Given the description of an element on the screen output the (x, y) to click on. 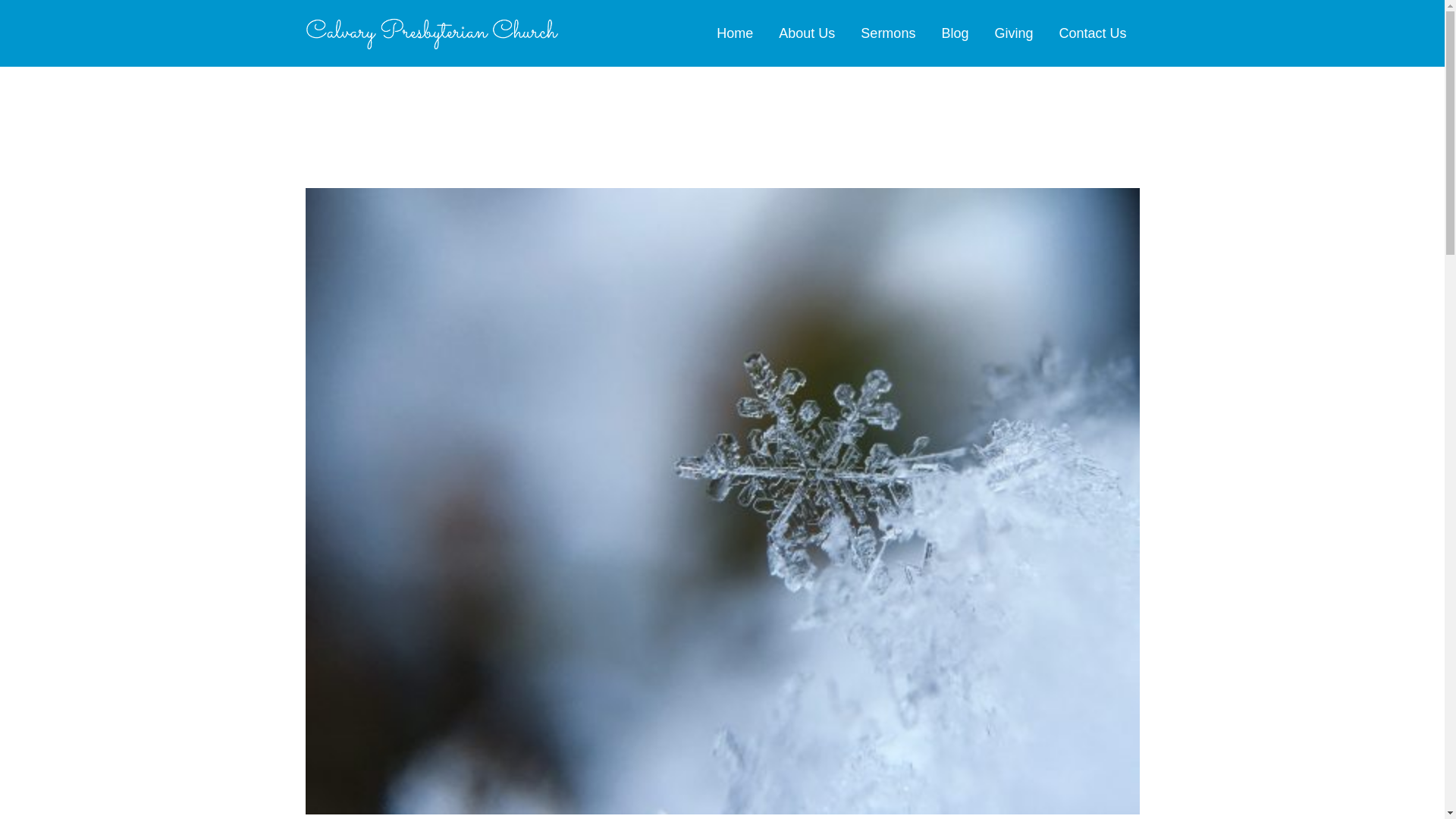
Home (734, 33)
About Us (806, 33)
Giving (1013, 33)
Contact Us (1091, 33)
Sermons (887, 33)
